Given the description of an element on the screen output the (x, y) to click on. 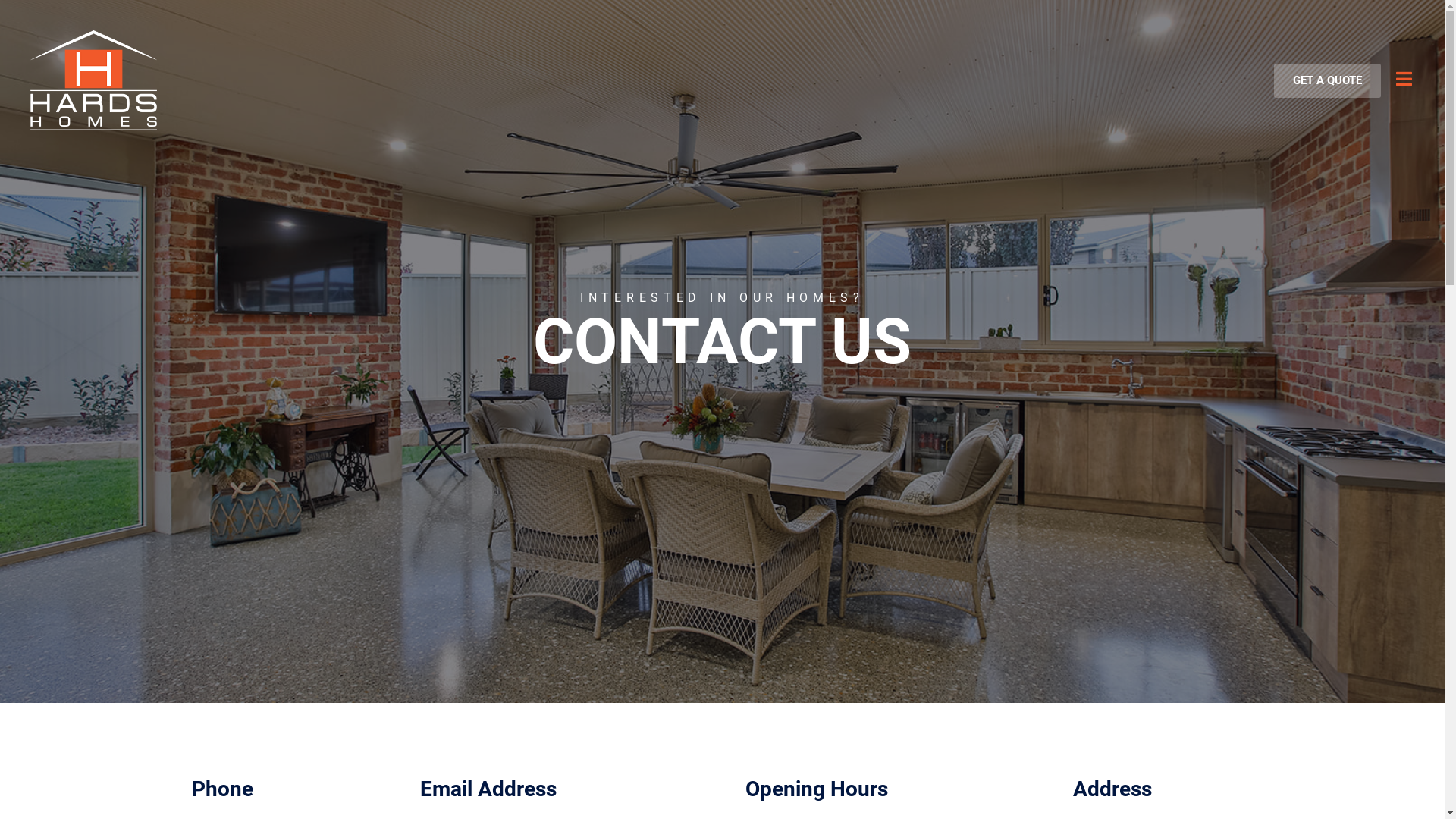
GET A QUOTE Element type: text (1327, 80)
